Given the description of an element on the screen output the (x, y) to click on. 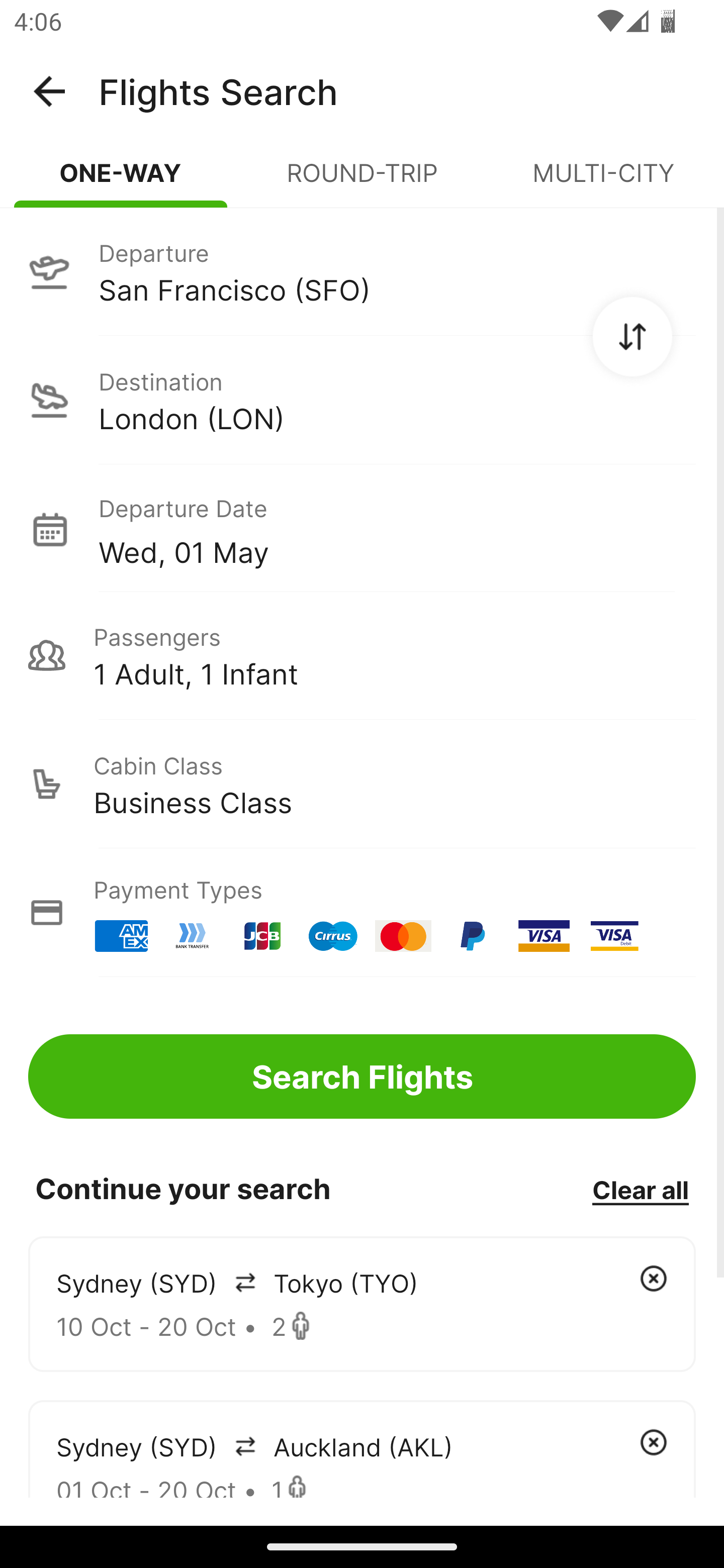
ONE-WAY (120, 180)
ROUND-TRIP (361, 180)
MULTI-CITY (603, 180)
Departure San Francisco (SFO) (362, 270)
Destination London (LON) (362, 400)
Departure Date Wed, 01 May (396, 528)
Passengers 1 Adult, 1 Infant (362, 655)
Cabin Class Business Class (362, 783)
Payment Types (362, 912)
Search Flights (361, 1075)
Clear all (640, 1189)
